Given the description of an element on the screen output the (x, y) to click on. 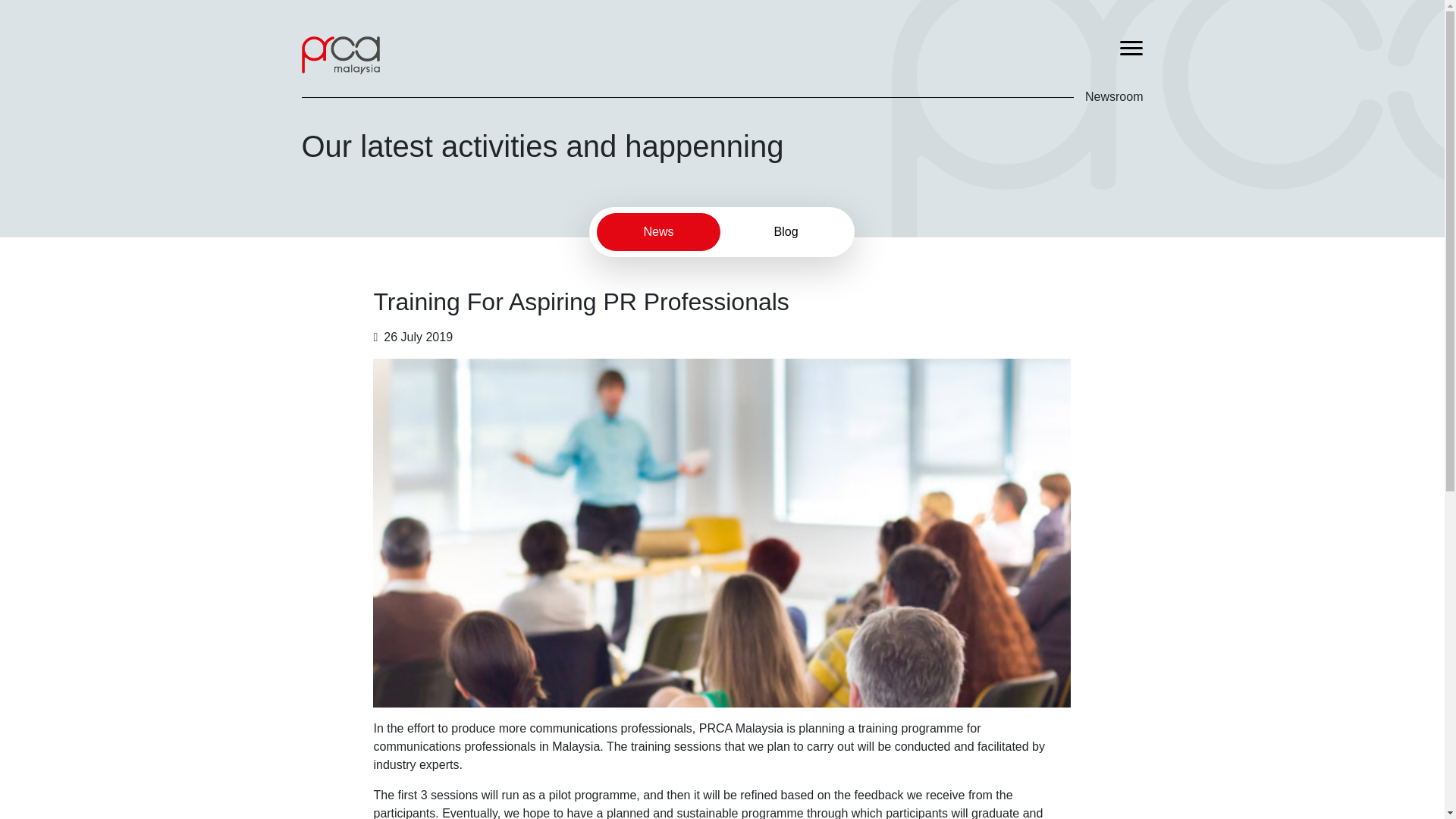
Blog (785, 231)
News (658, 231)
